Given the description of an element on the screen output the (x, y) to click on. 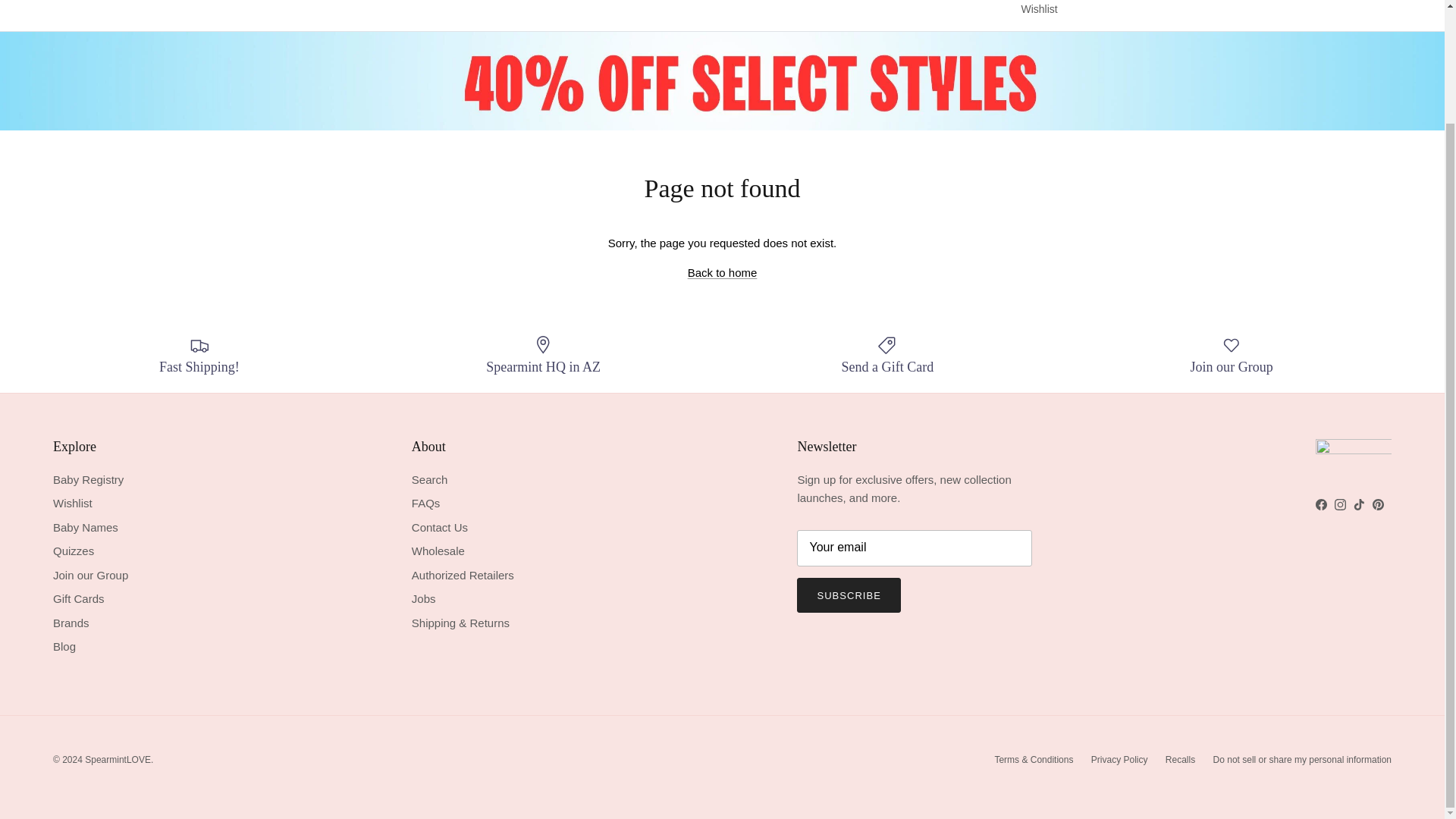
SpearmintLOVE on Instagram (1340, 504)
SpearmintLOVE on Facebook (1321, 504)
SpearmintLOVE on Pinterest (1378, 504)
NEW (330, 0)
SpearmintLOVE on TikTok (1359, 504)
